Given the description of an element on the screen output the (x, y) to click on. 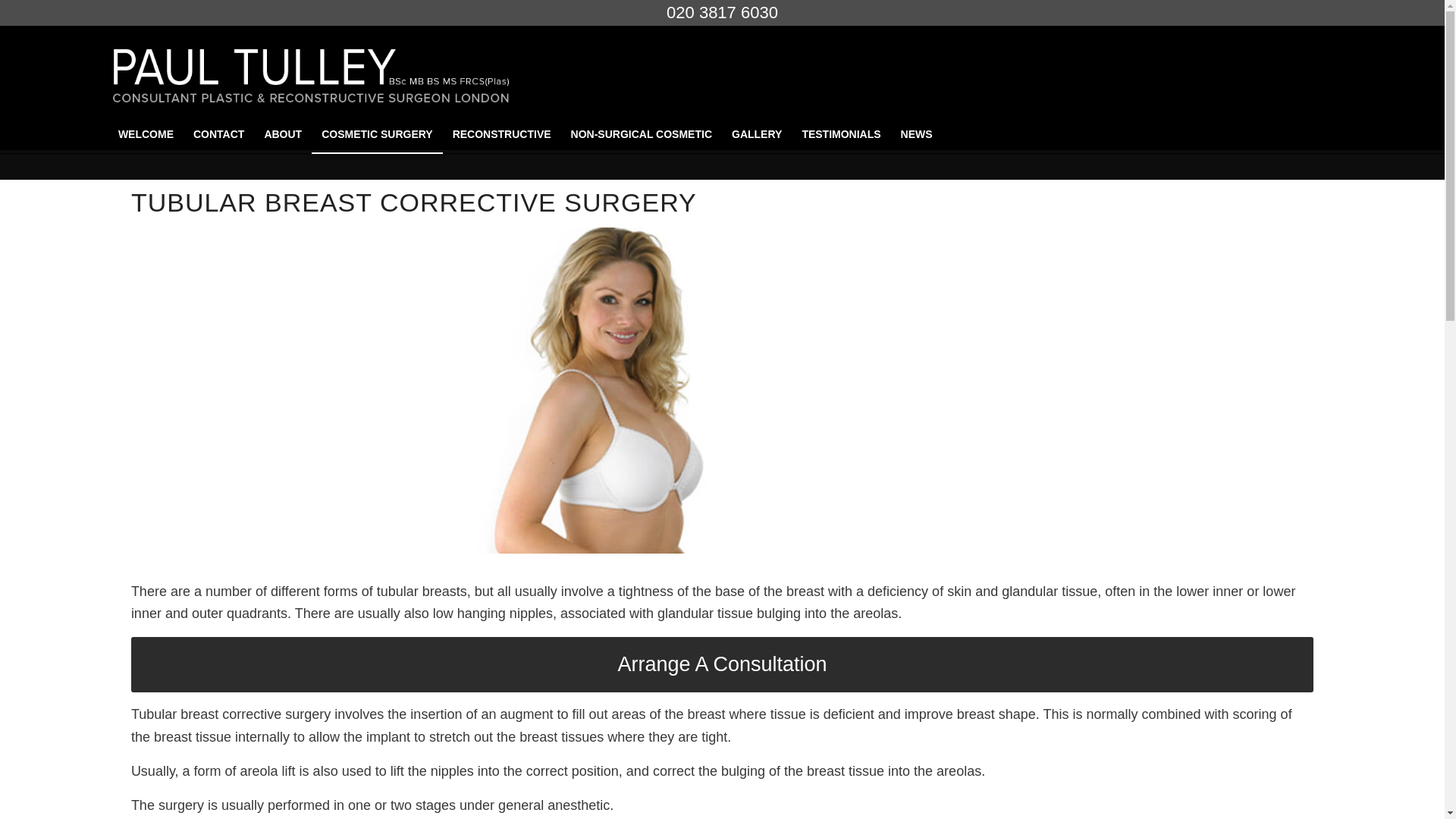
ABOUT (282, 134)
WELCOME (145, 134)
CONTACT (218, 134)
TULLEY LOGO revised title (310, 70)
COSMETIC SURGERY (376, 134)
020 3817 6030 (721, 12)
